Given the description of an element on the screen output the (x, y) to click on. 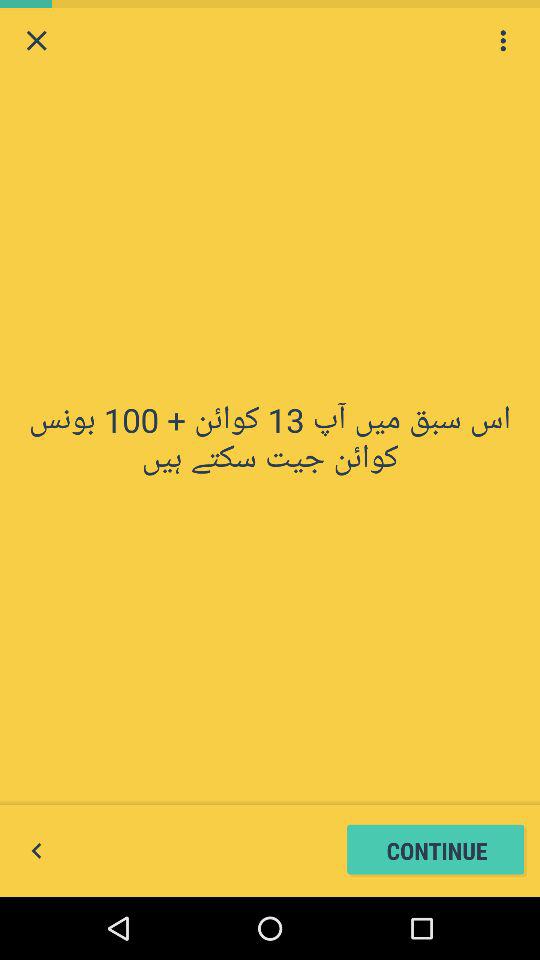
close this page (36, 40)
